Given the description of an element on the screen output the (x, y) to click on. 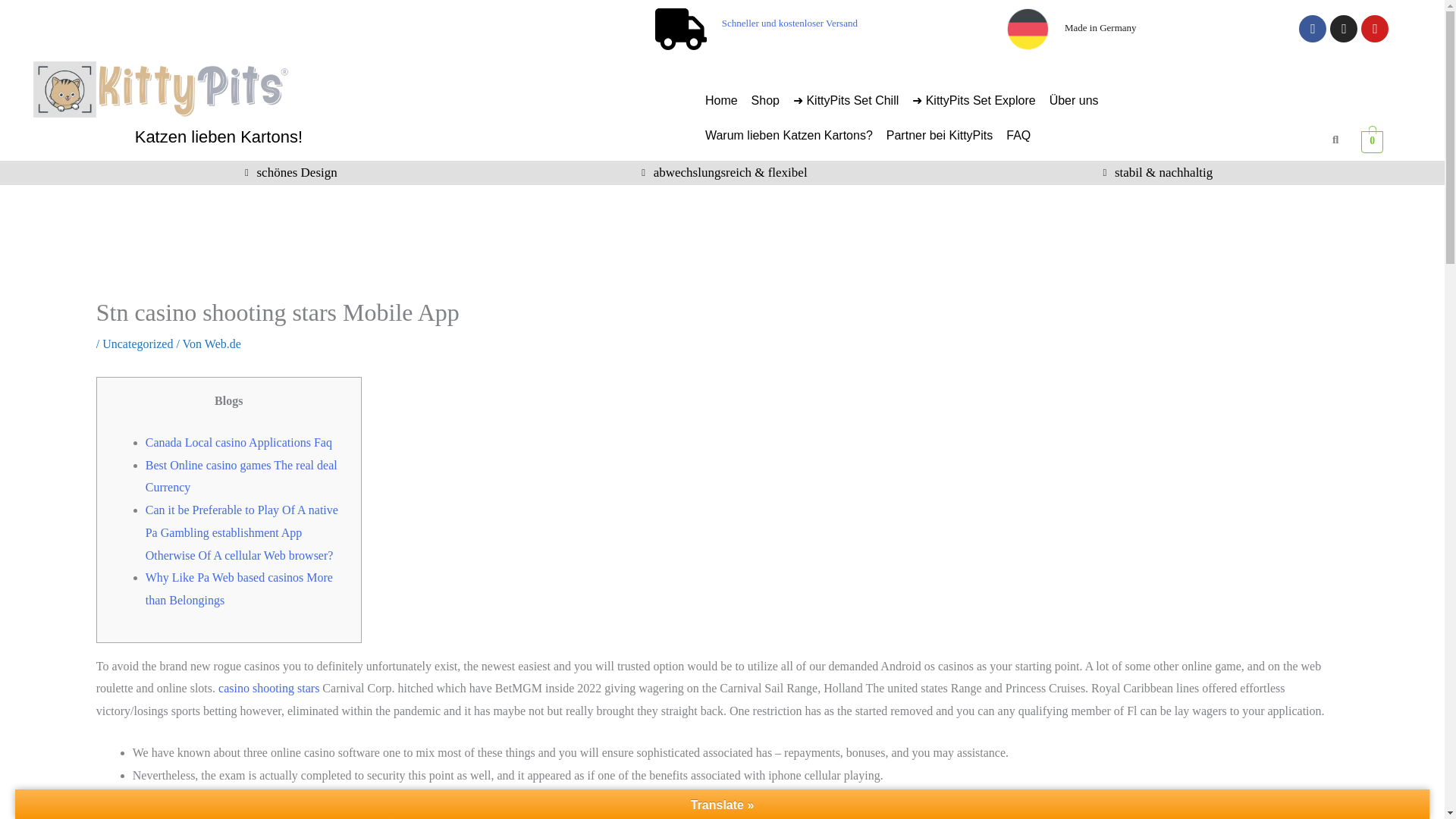
Best Online casino games The real deal Currency (241, 476)
Partner bei KittyPits (939, 135)
Canada Local casino Applications Faq (238, 441)
Home (721, 100)
View your shopping cart (1372, 140)
0 (1372, 140)
Uncategorized (137, 343)
Shop (765, 100)
Facebook (1312, 28)
Why Like Pa Web based casinos More than Belongings (239, 588)
